Given the description of an element on the screen output the (x, y) to click on. 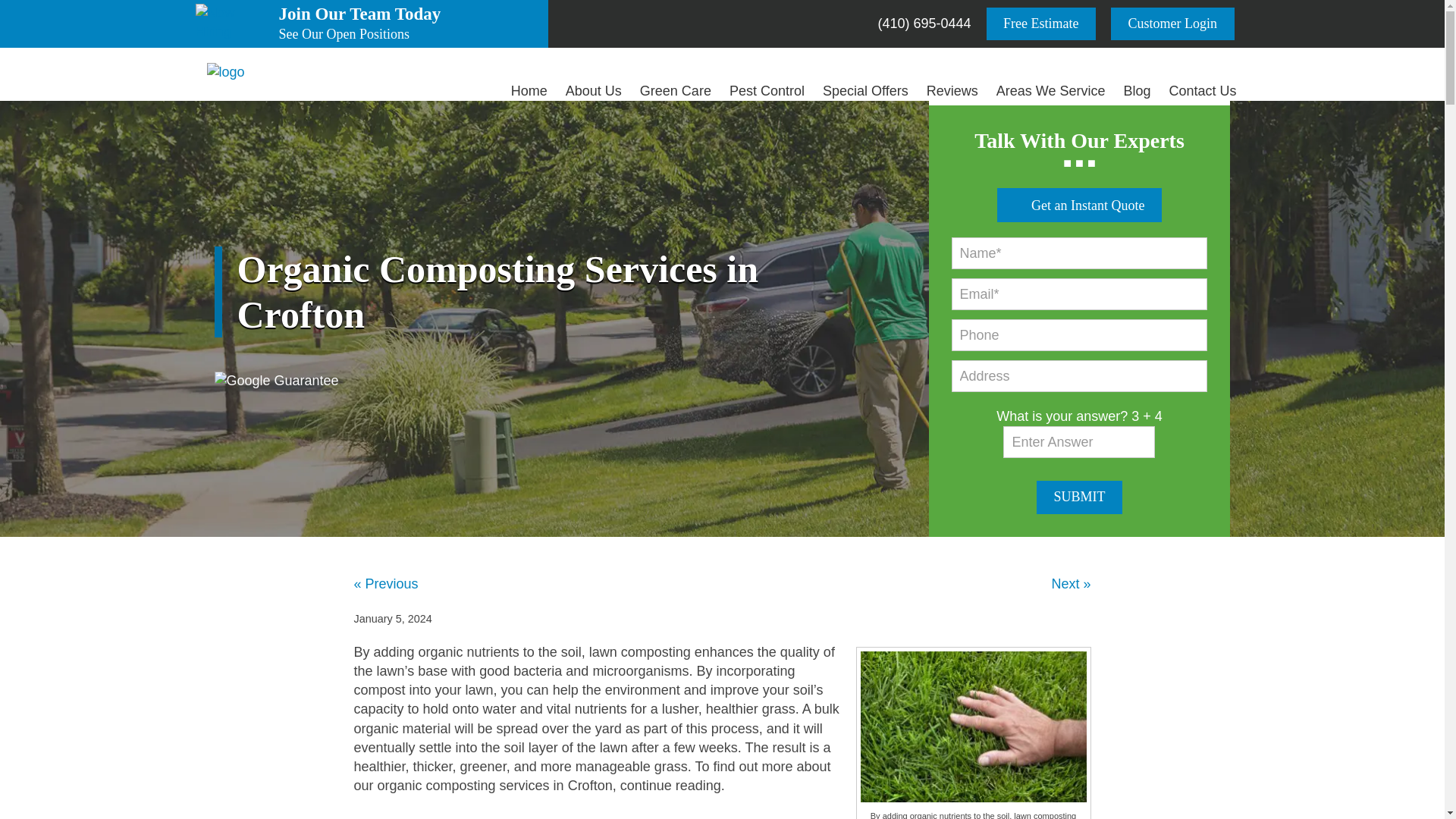
Areas We Service (1051, 90)
Reviews (952, 90)
Green Care (675, 90)
Pest Control (766, 90)
Customer Login (409, 24)
Special Offers (1172, 23)
Free Estimate (865, 90)
SUBMIT (1041, 23)
About Us (1079, 496)
Blog (593, 90)
On The Green, Inc. (1135, 90)
Home (225, 72)
